Given the description of an element on the screen output the (x, y) to click on. 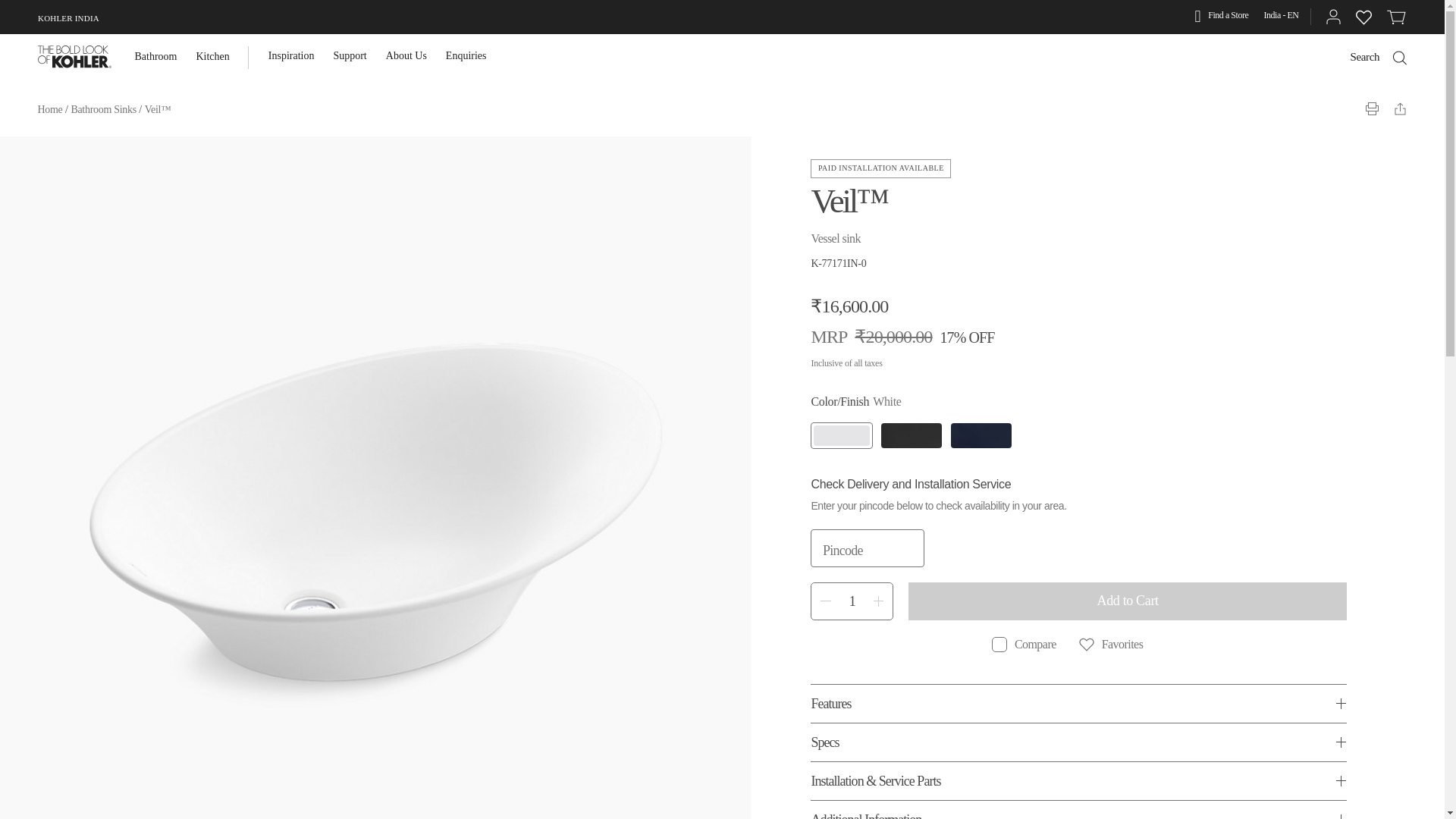
Find a Store (1222, 16)
1 (852, 601)
KOHLER INDIA (68, 17)
India - EN (1280, 15)
The Bold Look Kohler Brand Logo (74, 56)
